Given the description of an element on the screen output the (x, y) to click on. 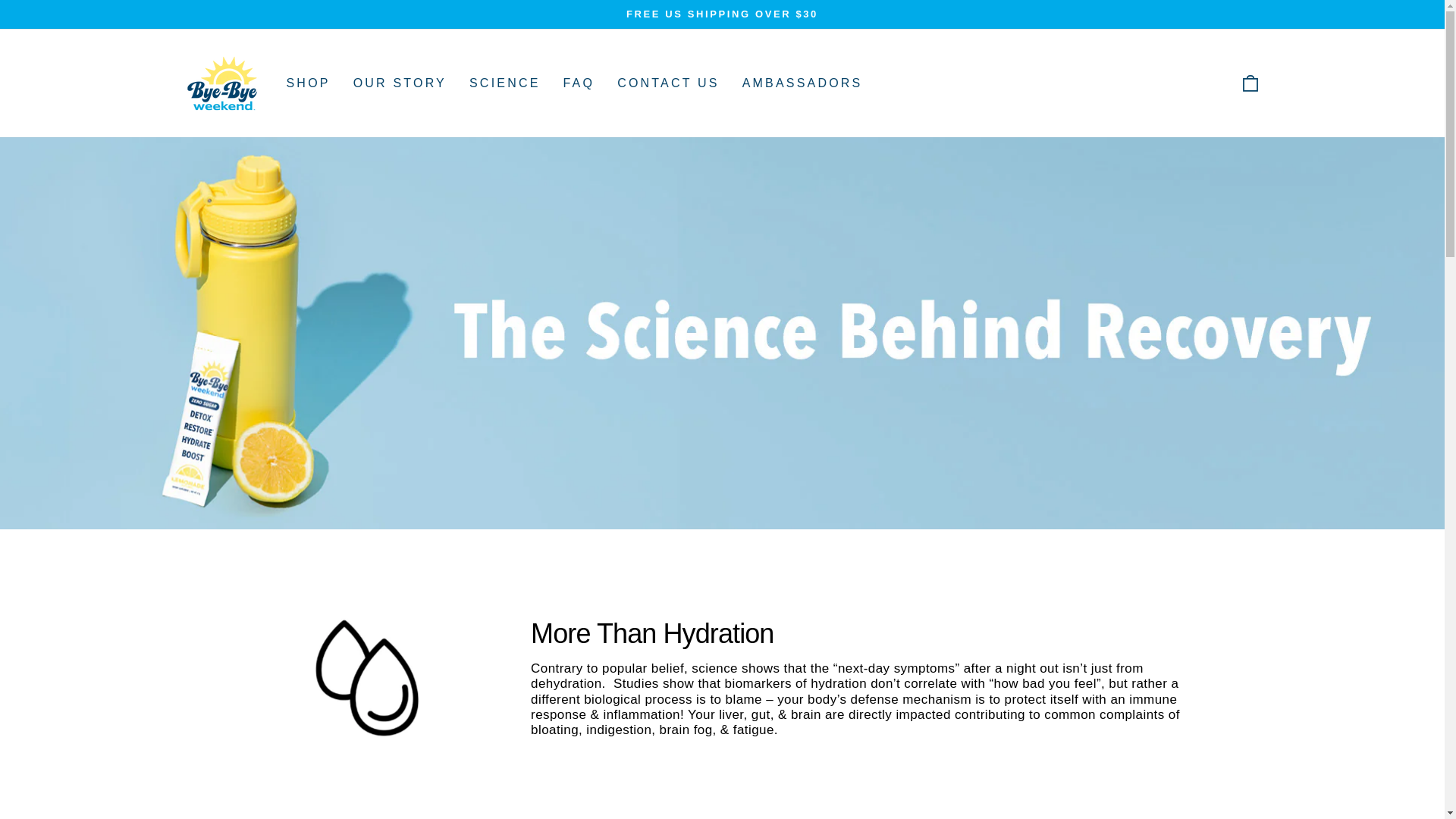
ICON-BAG-MINIMAL (1249, 83)
FAQ (579, 82)
OUR STORY (400, 82)
CONTACT US (667, 82)
SCIENCE (1249, 82)
SHOP (504, 82)
AMBASSADORS (307, 82)
